Given the description of an element on the screen output the (x, y) to click on. 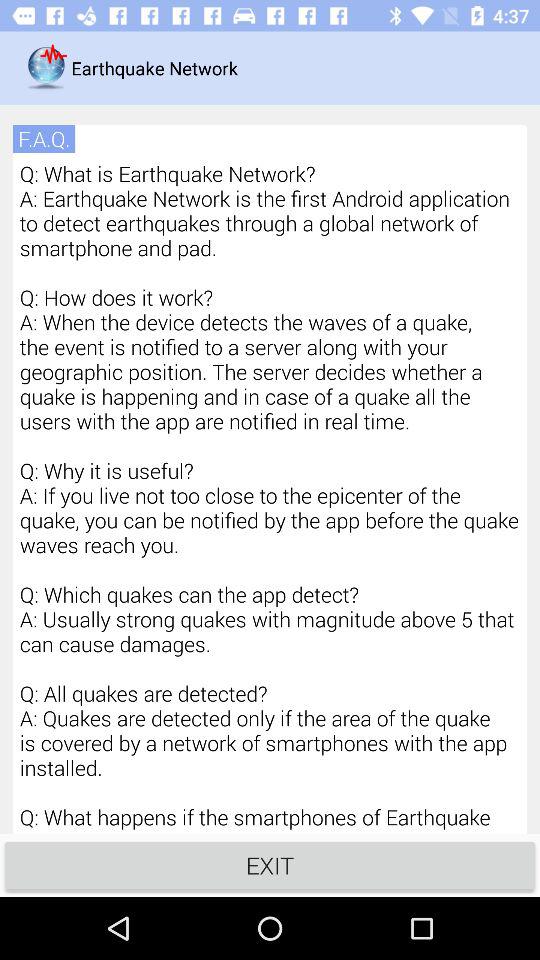
open icon above the exit (269, 496)
